Given the description of an element on the screen output the (x, y) to click on. 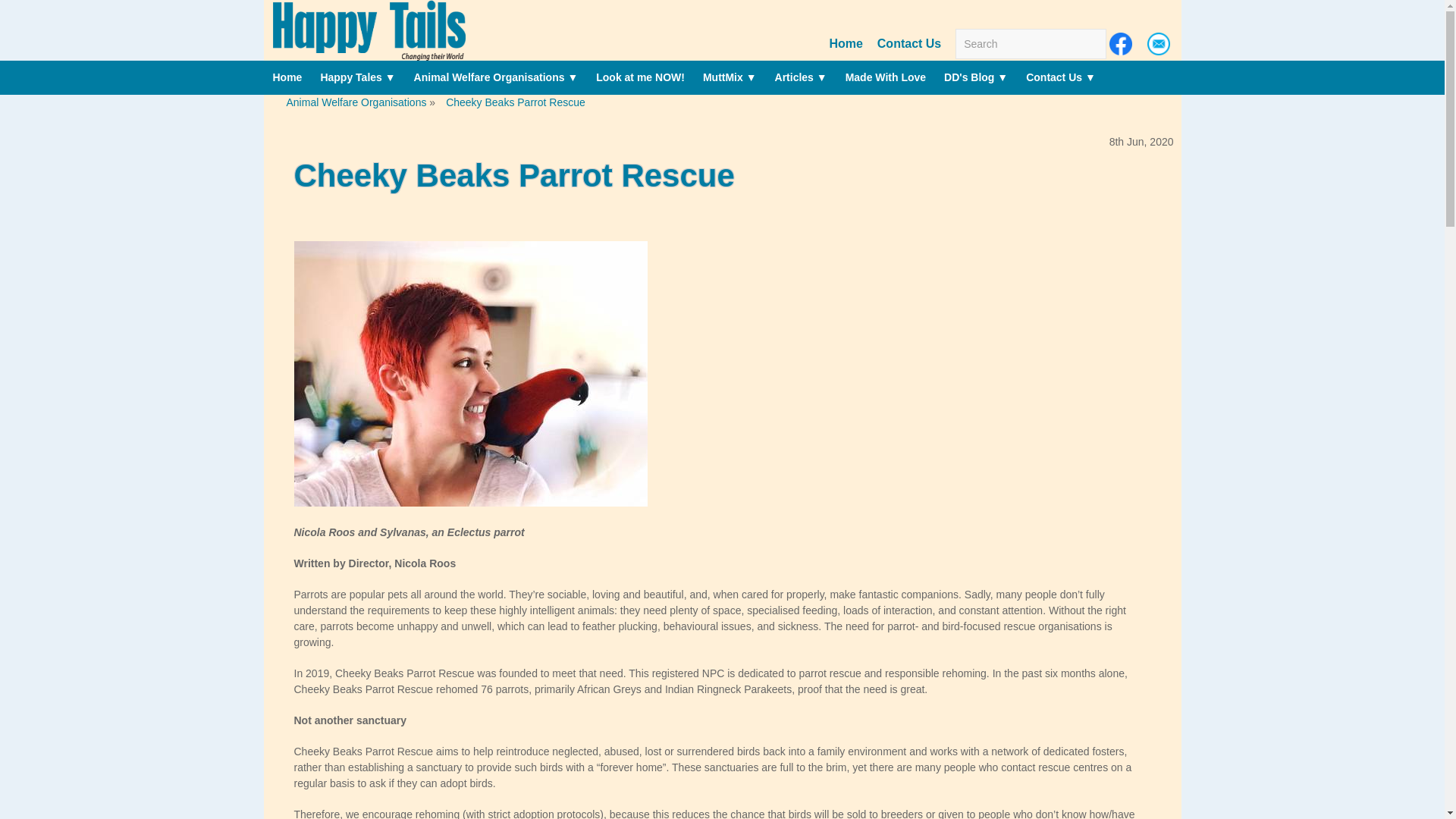
Home (844, 42)
Home (287, 77)
Contact Us (908, 42)
Look at me NOW! (640, 77)
Published on 8th Jun, 2020 (722, 175)
